Given the description of an element on the screen output the (x, y) to click on. 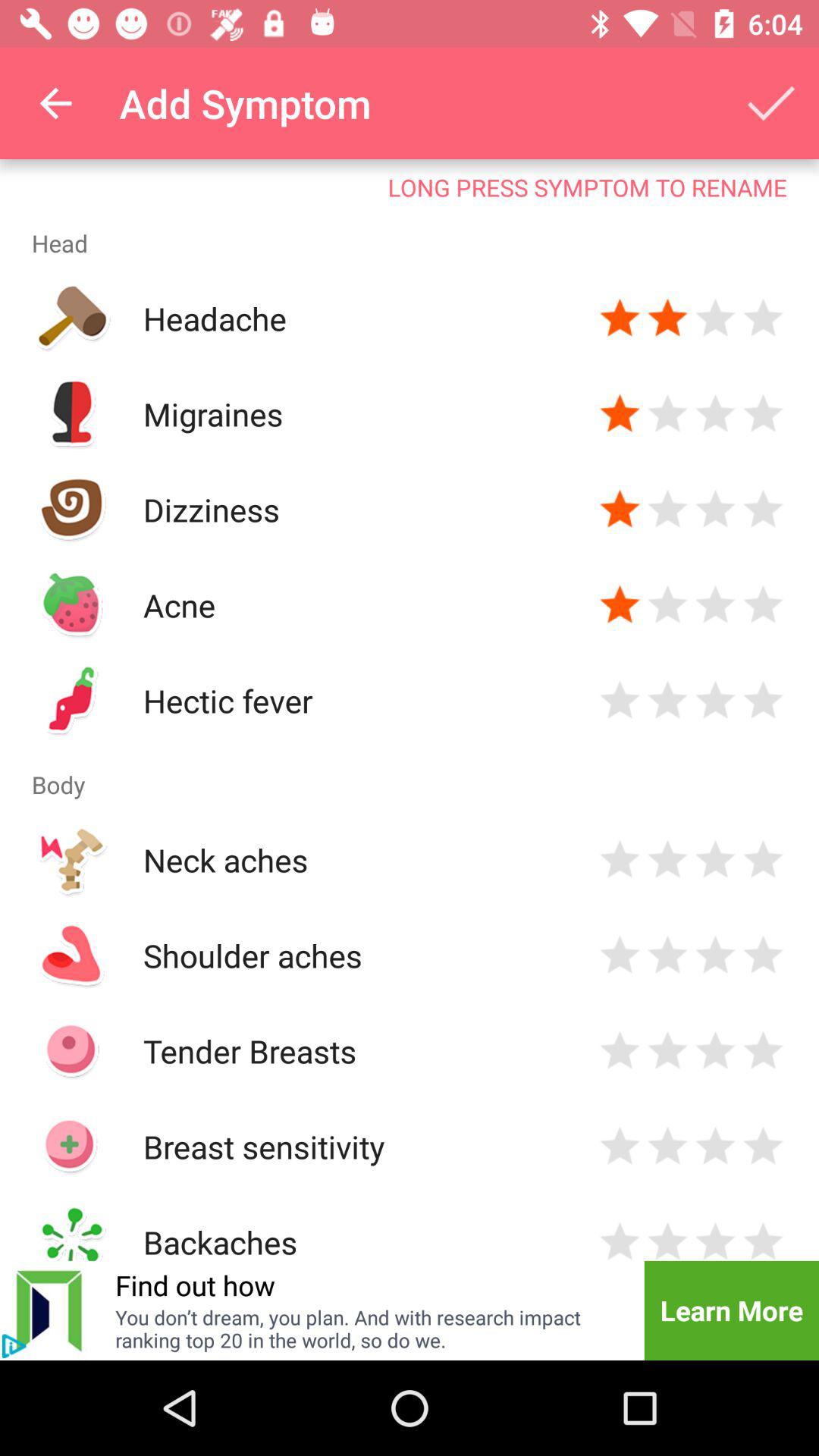
give two stars to the symptom migraines (667, 413)
